Given the description of an element on the screen output the (x, y) to click on. 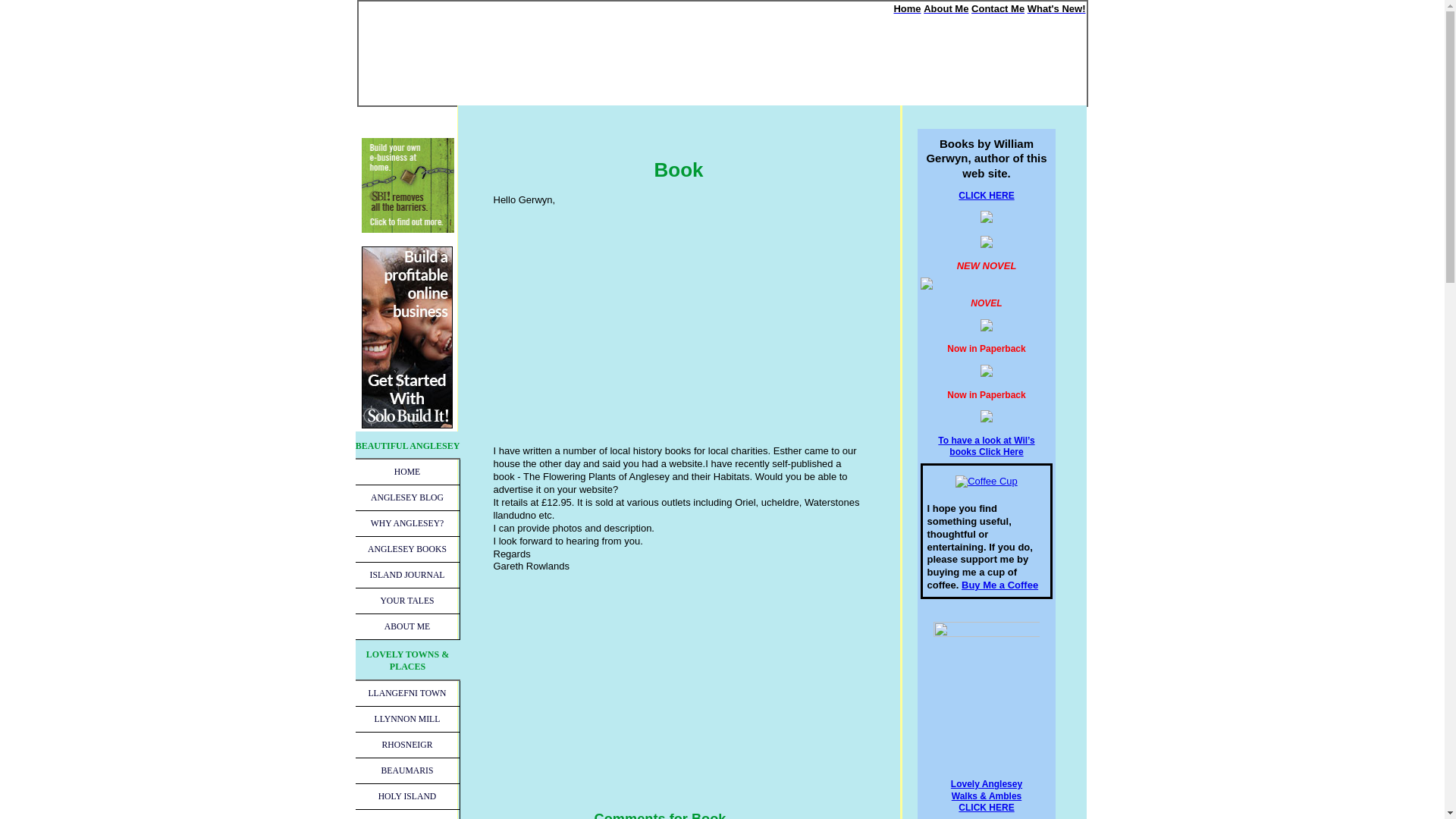
YOUR TALES (407, 601)
About Me (945, 8)
ABOUT ME (407, 626)
WHY ANGLESEY? (407, 524)
ANGLESEY BOOKS (407, 549)
RHOSNEIGR (407, 745)
LLYNNON MILL (407, 719)
HOME (407, 472)
What's New! (1056, 8)
Contact Me (998, 8)
